Given the description of an element on the screen output the (x, y) to click on. 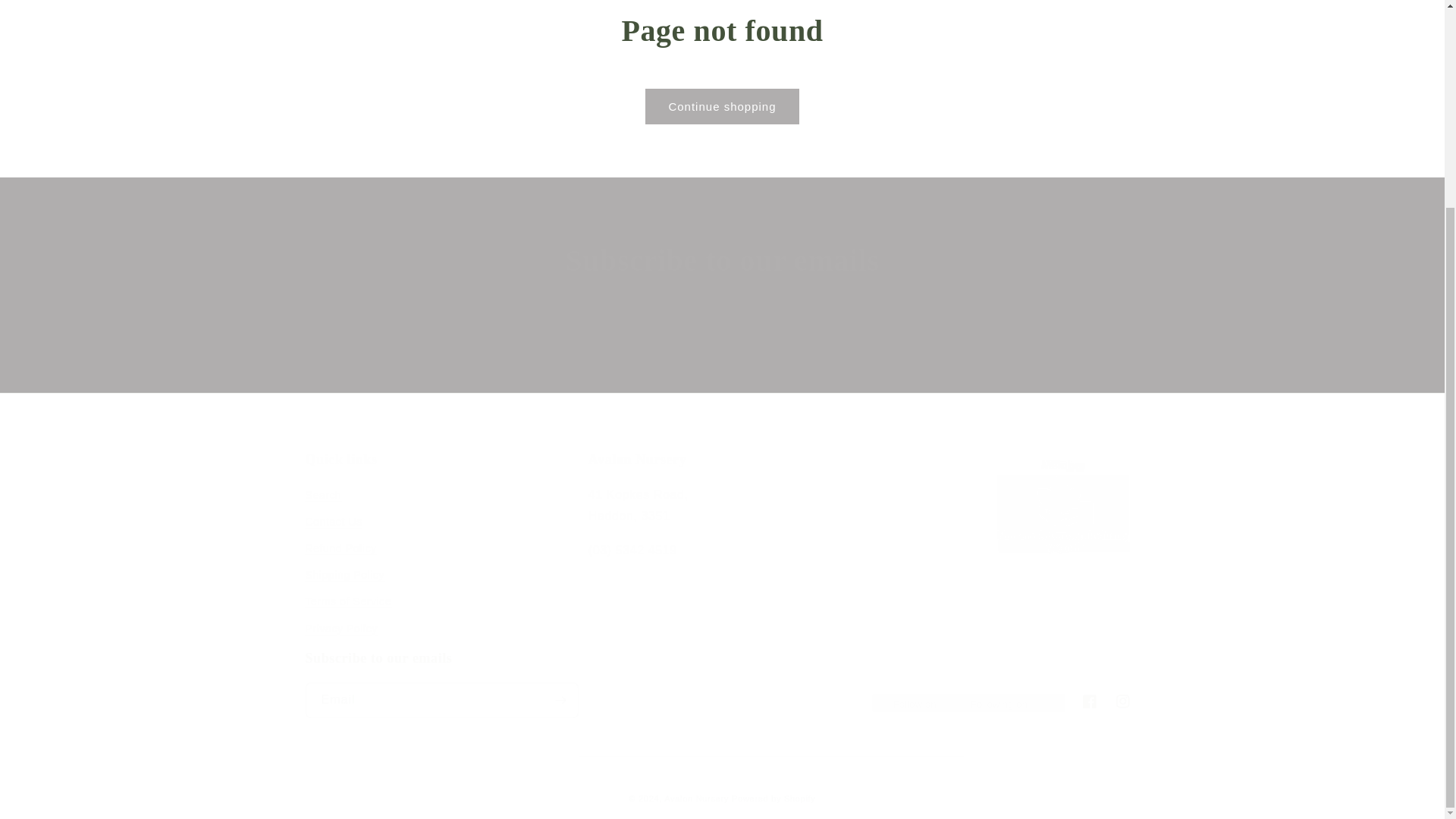
Email (722, 350)
Subscribe to our emails (721, 684)
